Given the description of an element on the screen output the (x, y) to click on. 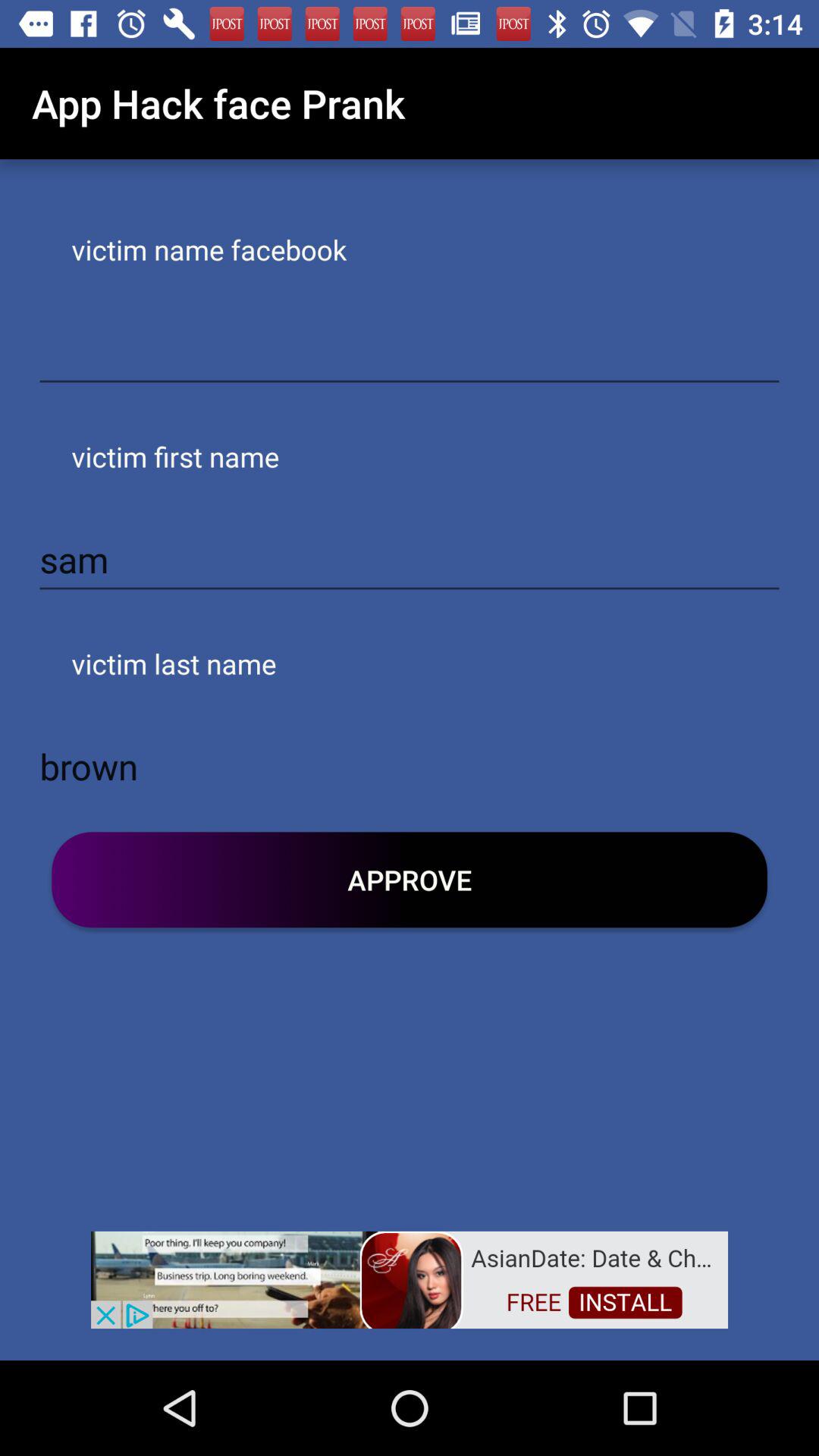
advertisement page (409, 1278)
